Given the description of an element on the screen output the (x, y) to click on. 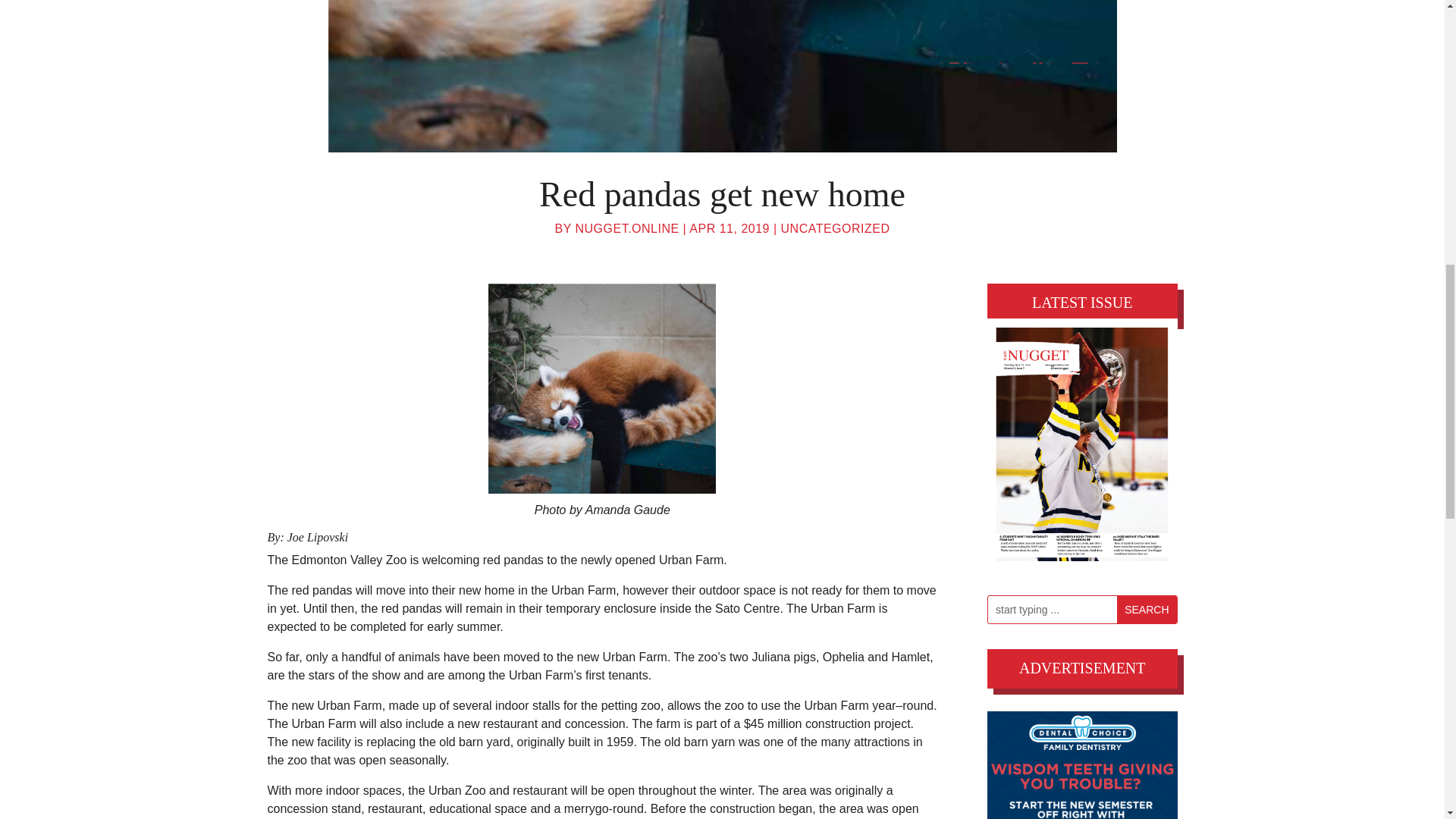
Search (1146, 609)
Posts by nugget.online (626, 228)
red pandas (721, 76)
Search (1146, 609)
